Given the description of an element on the screen output the (x, y) to click on. 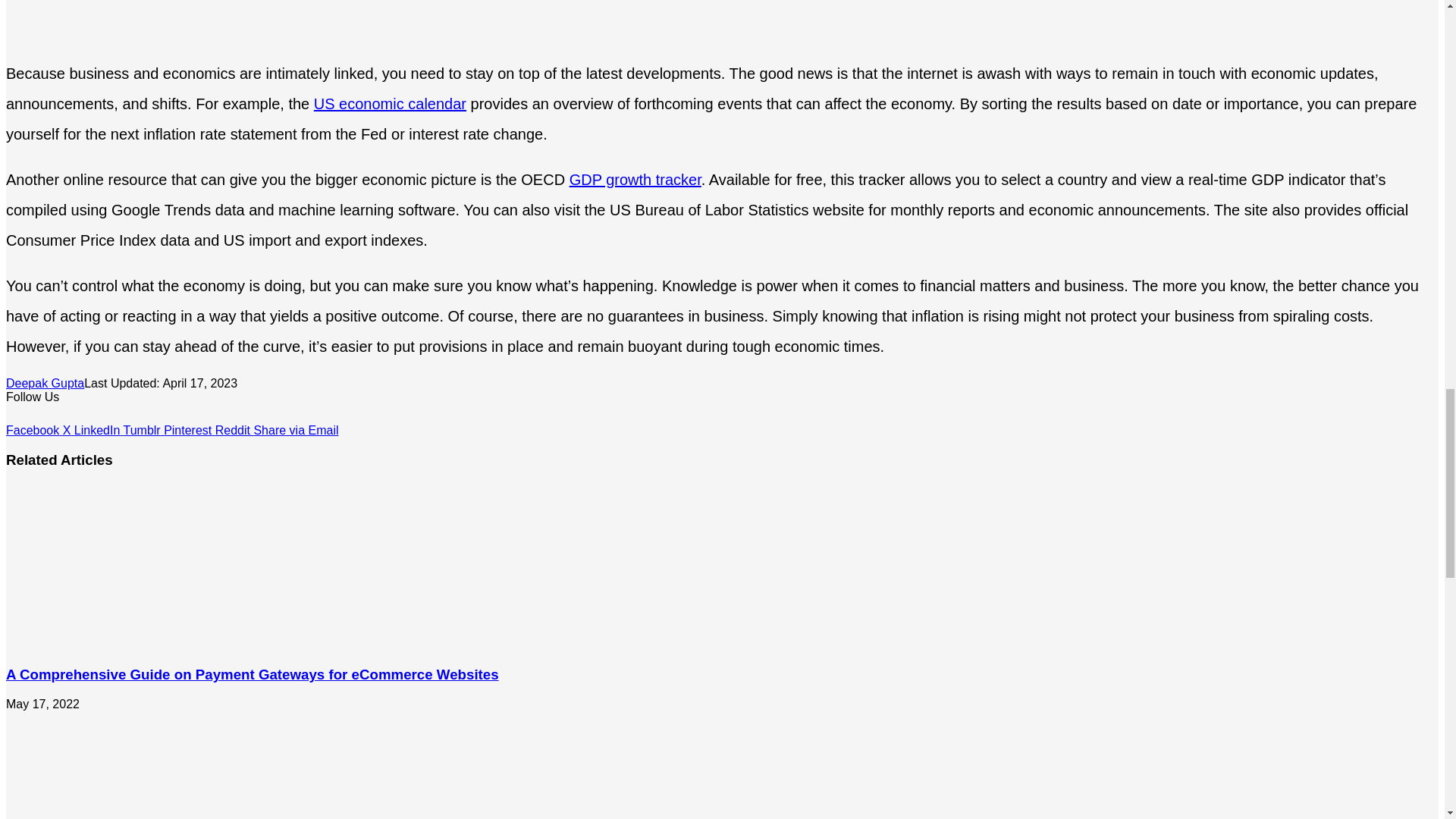
Reddit (234, 430)
Google News (51, 416)
US economic calendar (389, 103)
Pinterest (189, 430)
Pinterest (189, 430)
Tumblr (142, 430)
Facebook (33, 430)
Share via Email (295, 430)
LinkedIn (98, 430)
